Given the description of an element on the screen output the (x, y) to click on. 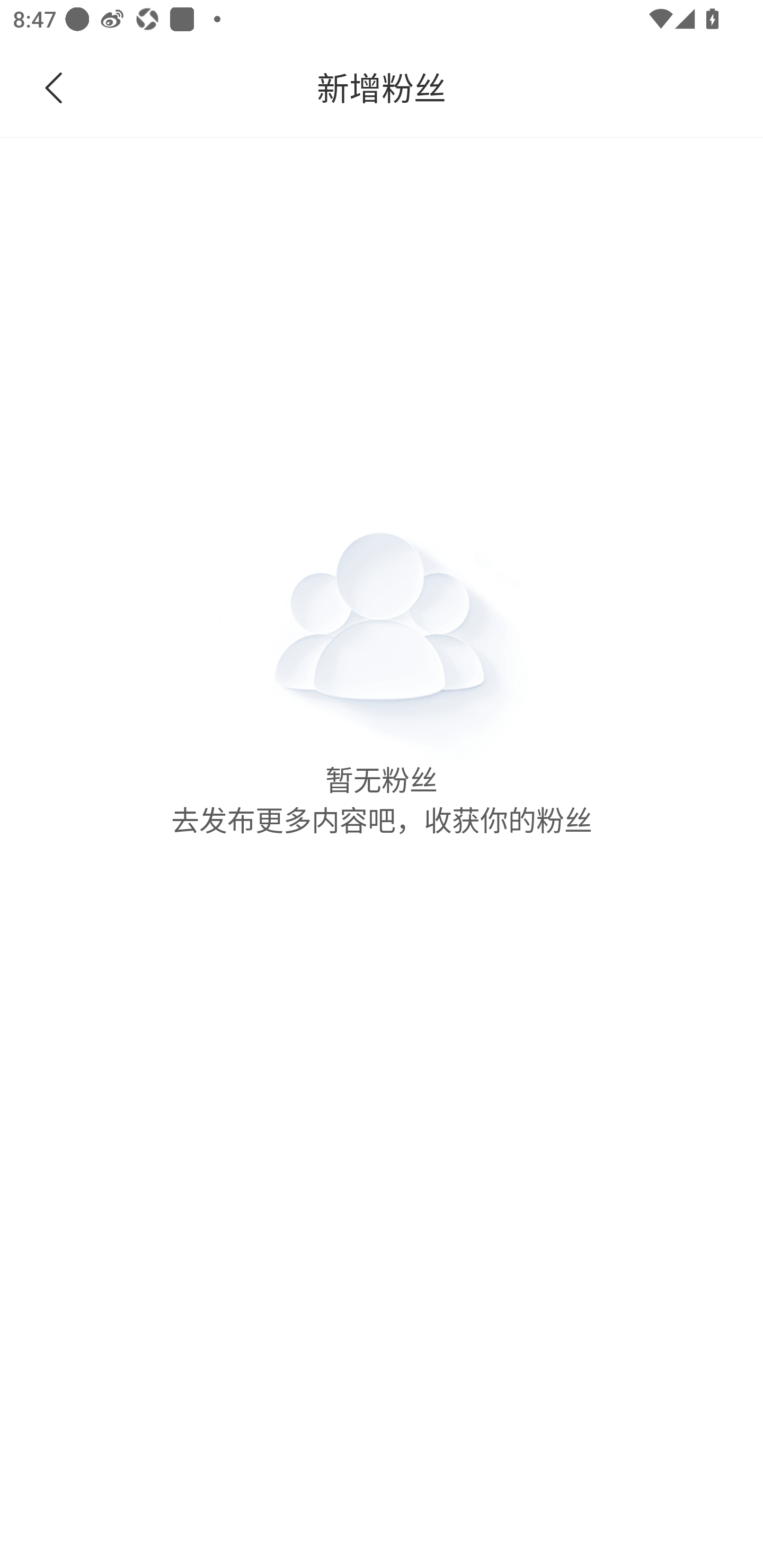
返回，可点击 (91, 87)
